Given the description of an element on the screen output the (x, y) to click on. 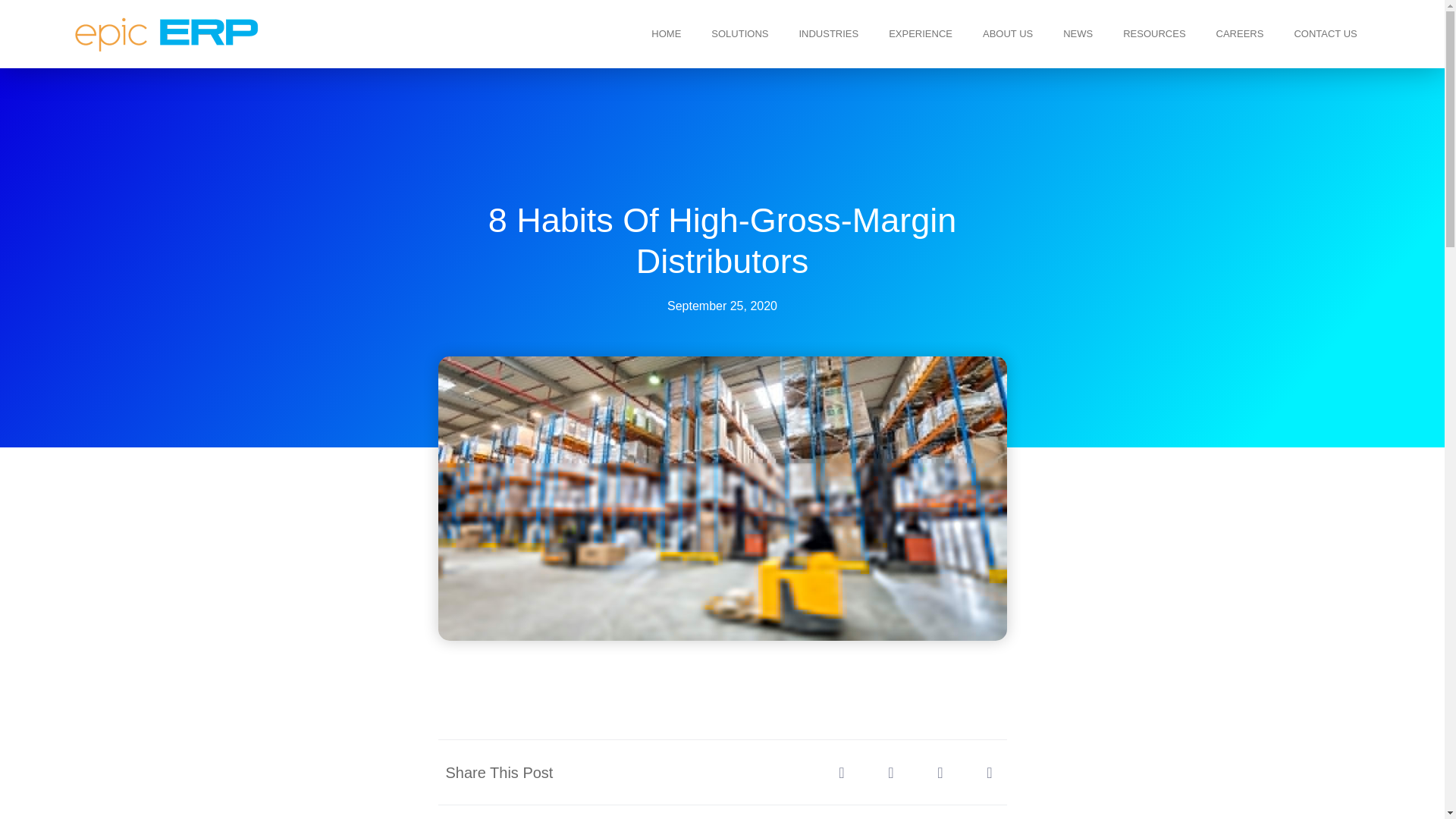
RESOURCES (1153, 33)
INDUSTRIES (828, 33)
epic-erp-logo-space (166, 33)
September 25, 2020 (721, 306)
SOLUTIONS (739, 33)
NEWS (1078, 33)
EXPERIENCE (920, 33)
CONTACT US (1324, 33)
ABOUT US (1008, 33)
CAREERS (1240, 33)
